Given the description of an element on the screen output the (x, y) to click on. 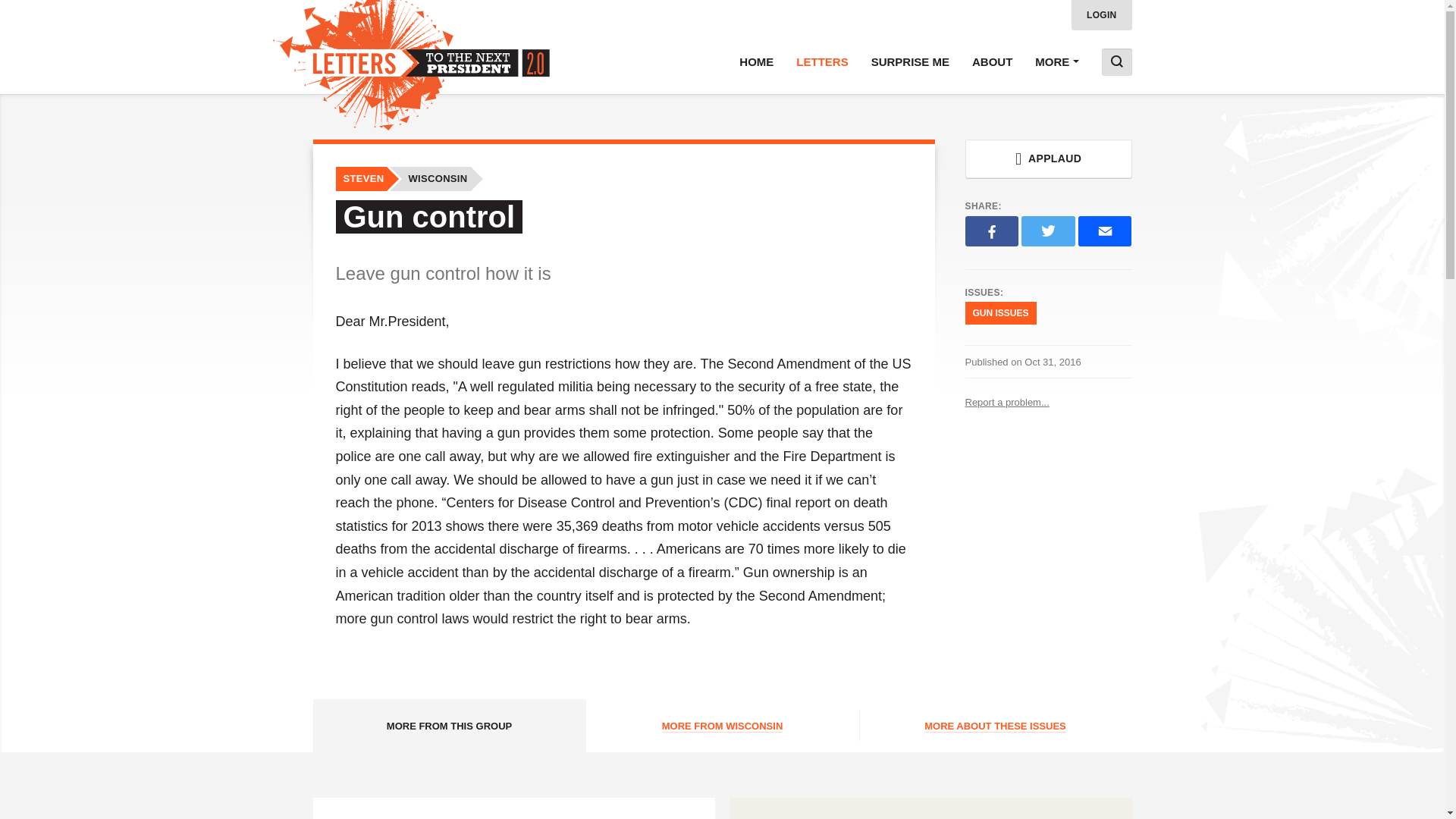
MORE ABOUT THESE ISSUES (995, 725)
MORE FROM THIS GROUP (449, 725)
HOME (756, 62)
ABOUT (991, 62)
Report a problem... (1047, 402)
LETTERS (821, 62)
GUN ISSUES (999, 313)
LOGIN (1101, 15)
MORE FROM WISCONSIN (722, 725)
SURPRISE ME (910, 62)
